Given the description of an element on the screen output the (x, y) to click on. 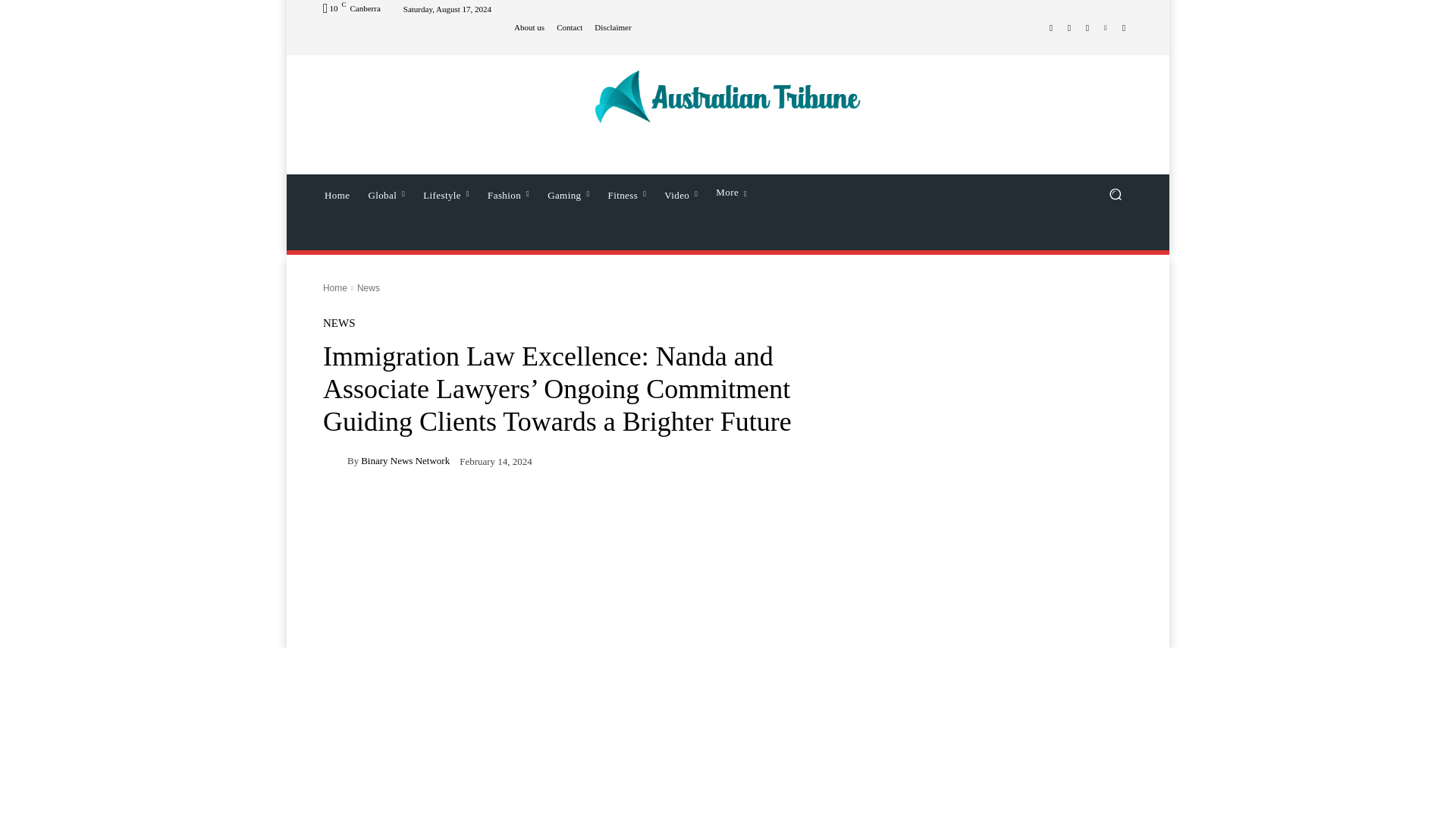
Disclaimer (612, 27)
About us (528, 27)
Facebook (1050, 27)
Instagram (1068, 27)
Global (385, 193)
Twitter (1087, 27)
Home (336, 193)
Youtube (1123, 27)
Vimeo (1105, 27)
Contact (569, 27)
